Given the description of an element on the screen output the (x, y) to click on. 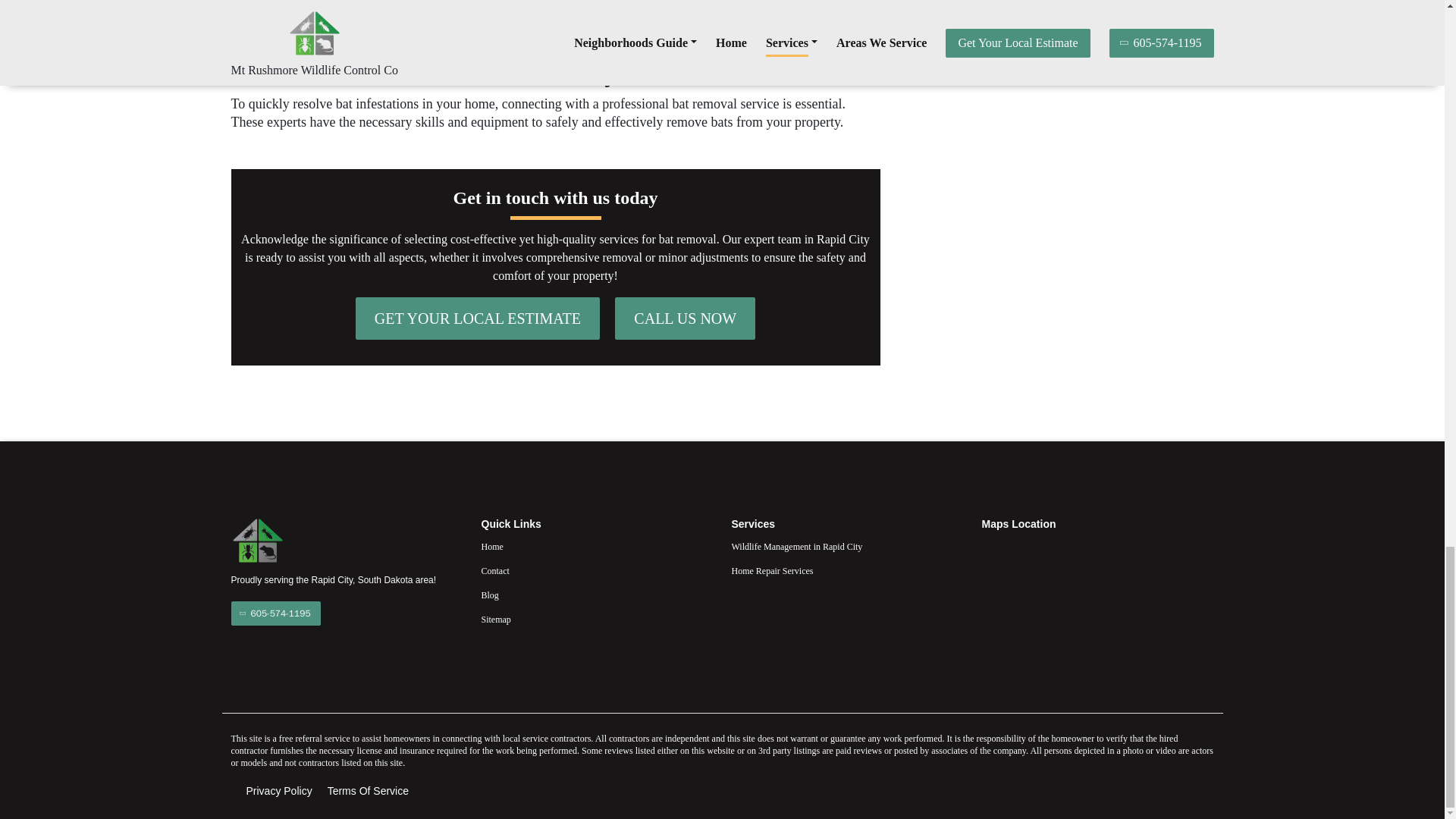
CALL US NOW (684, 318)
GET YOUR LOCAL ESTIMATE (477, 318)
